Given the description of an element on the screen output the (x, y) to click on. 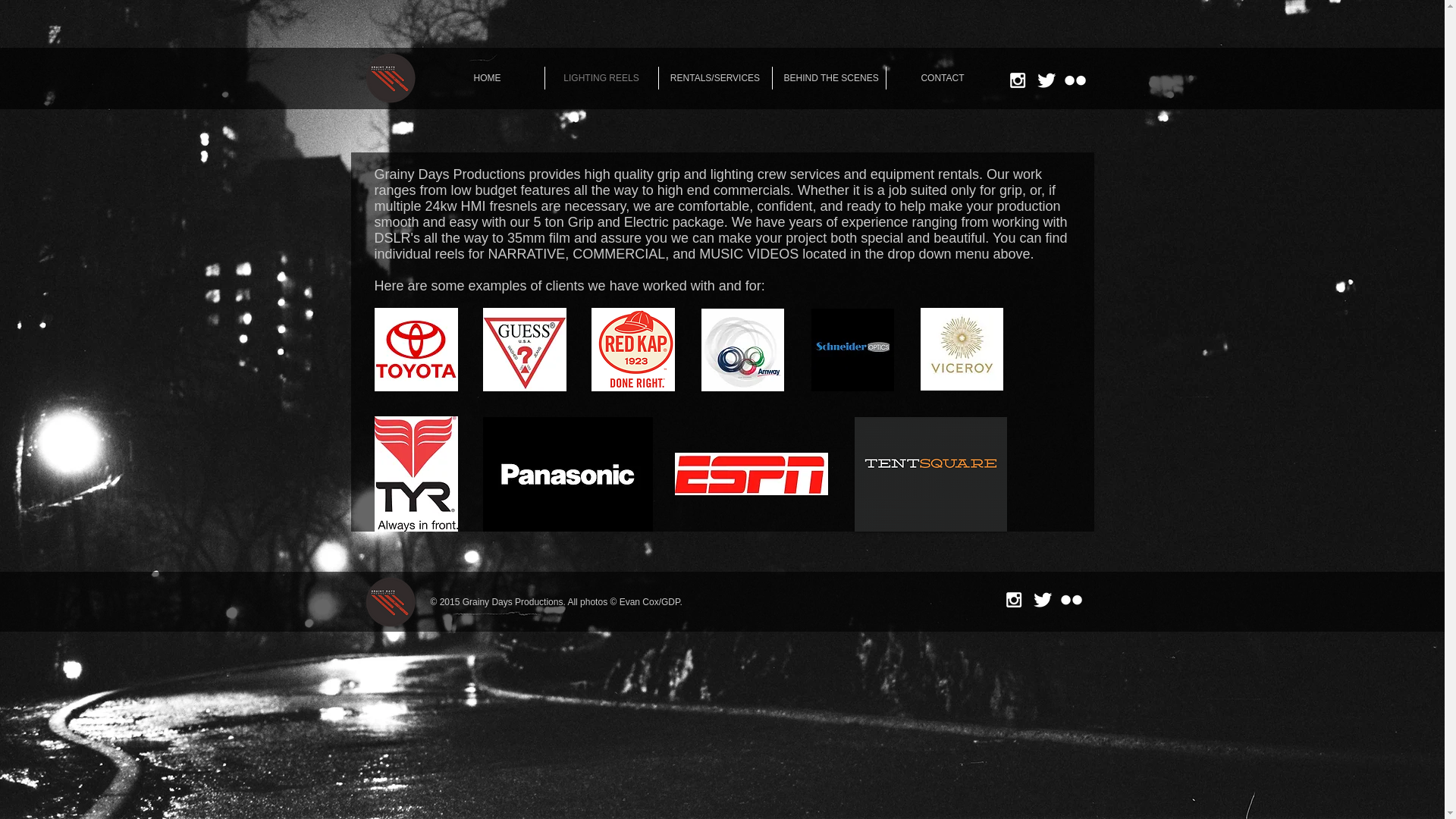
BEHIND THE SCENES (828, 77)
CONTACT (941, 77)
HOME (487, 77)
LIGHTING REELS (601, 77)
